Given the description of an element on the screen output the (x, y) to click on. 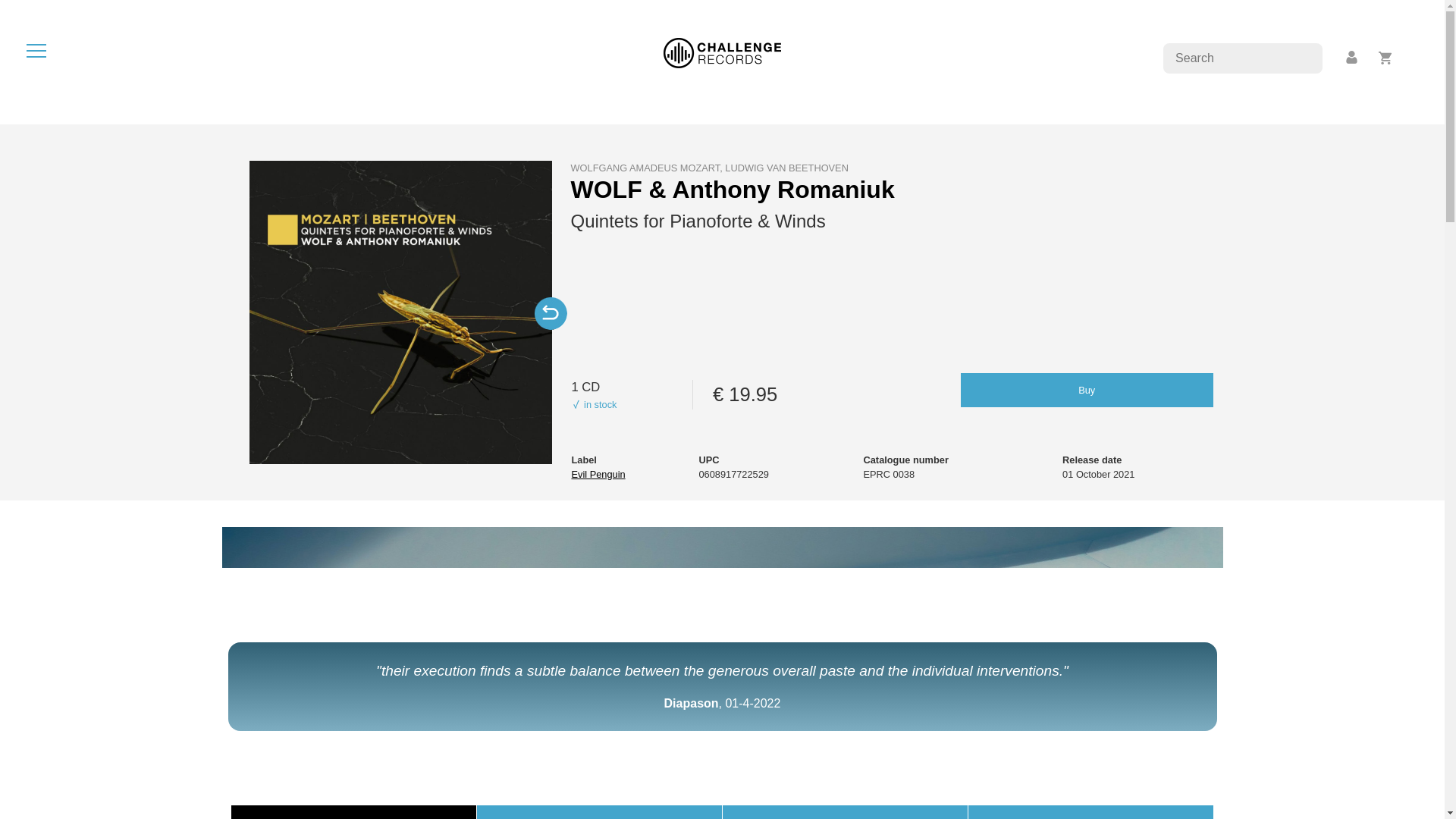
Buy (1086, 390)
basket (1385, 57)
open the menu (36, 49)
account (1352, 57)
Evil Penguin (597, 473)
